Given the description of an element on the screen output the (x, y) to click on. 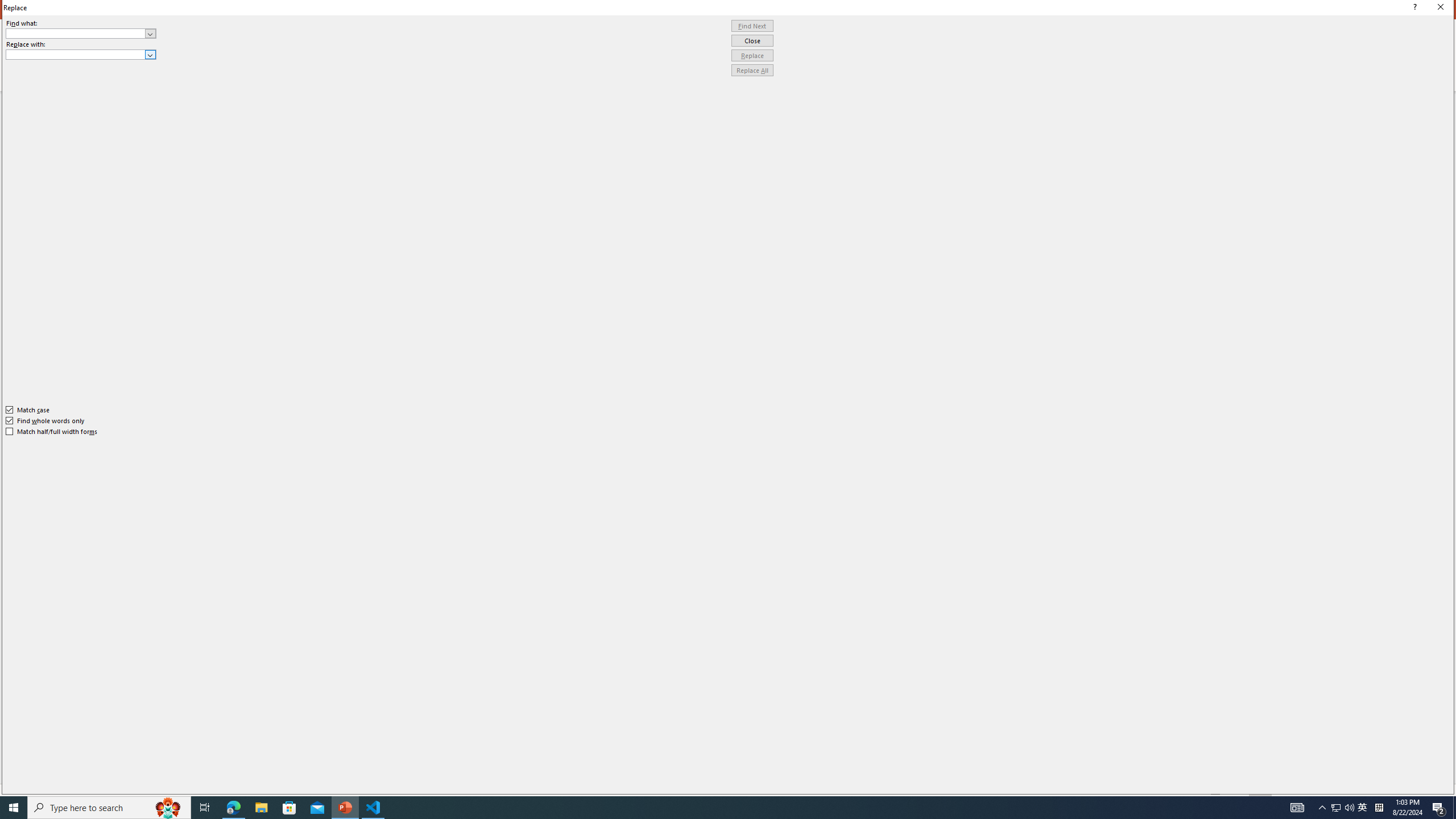
Match case (27, 409)
Replace with (75, 53)
Find what (75, 33)
Replace (752, 55)
Match half/full width forms (52, 431)
Replace with (80, 54)
Replace All (752, 69)
Find Next (752, 25)
Find whole words only (45, 420)
Find what (80, 33)
